Given the description of an element on the screen output the (x, y) to click on. 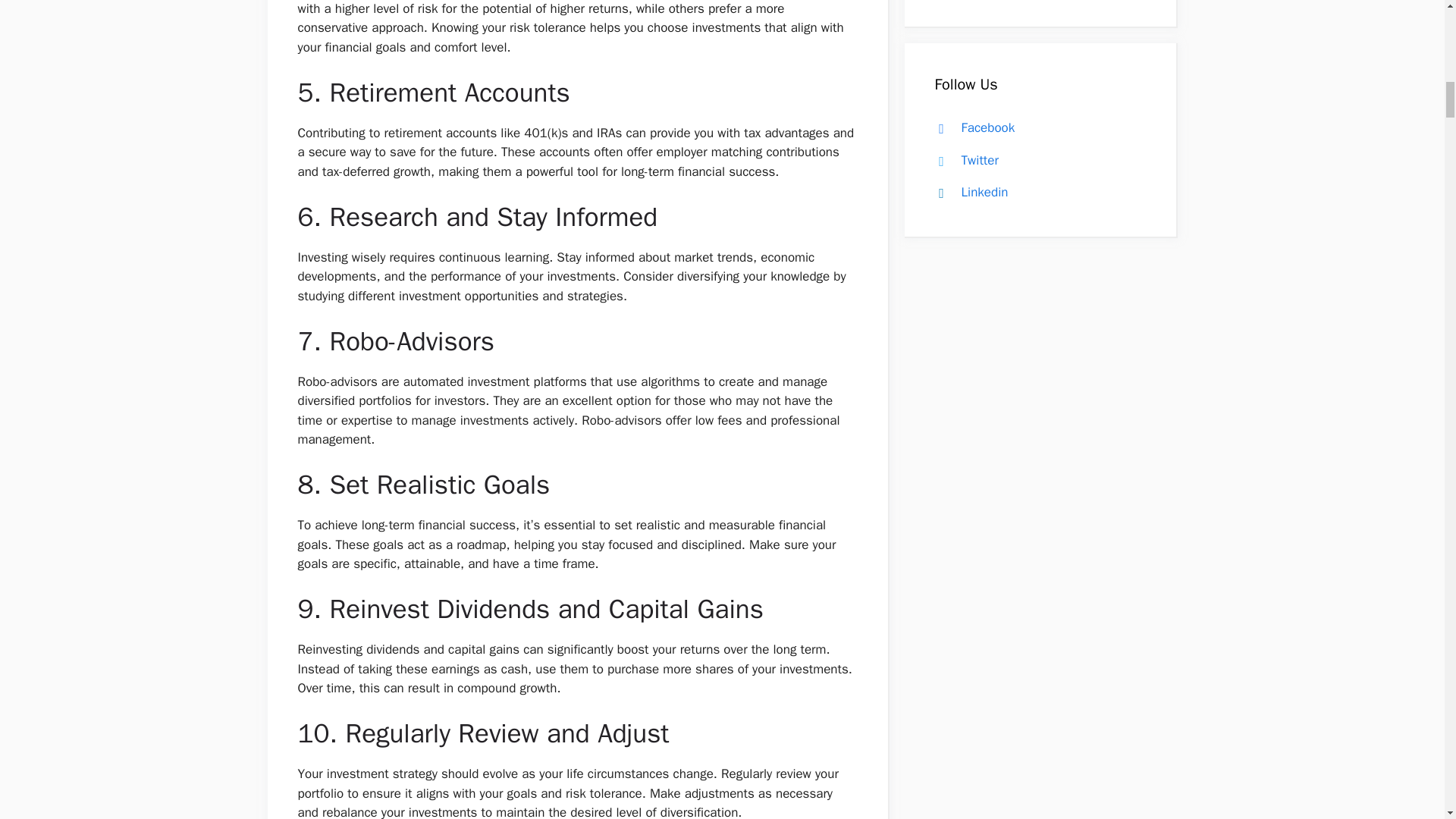
Facebook (971, 127)
Twitter (962, 160)
Linkedin (967, 191)
